Given the description of an element on the screen output the (x, y) to click on. 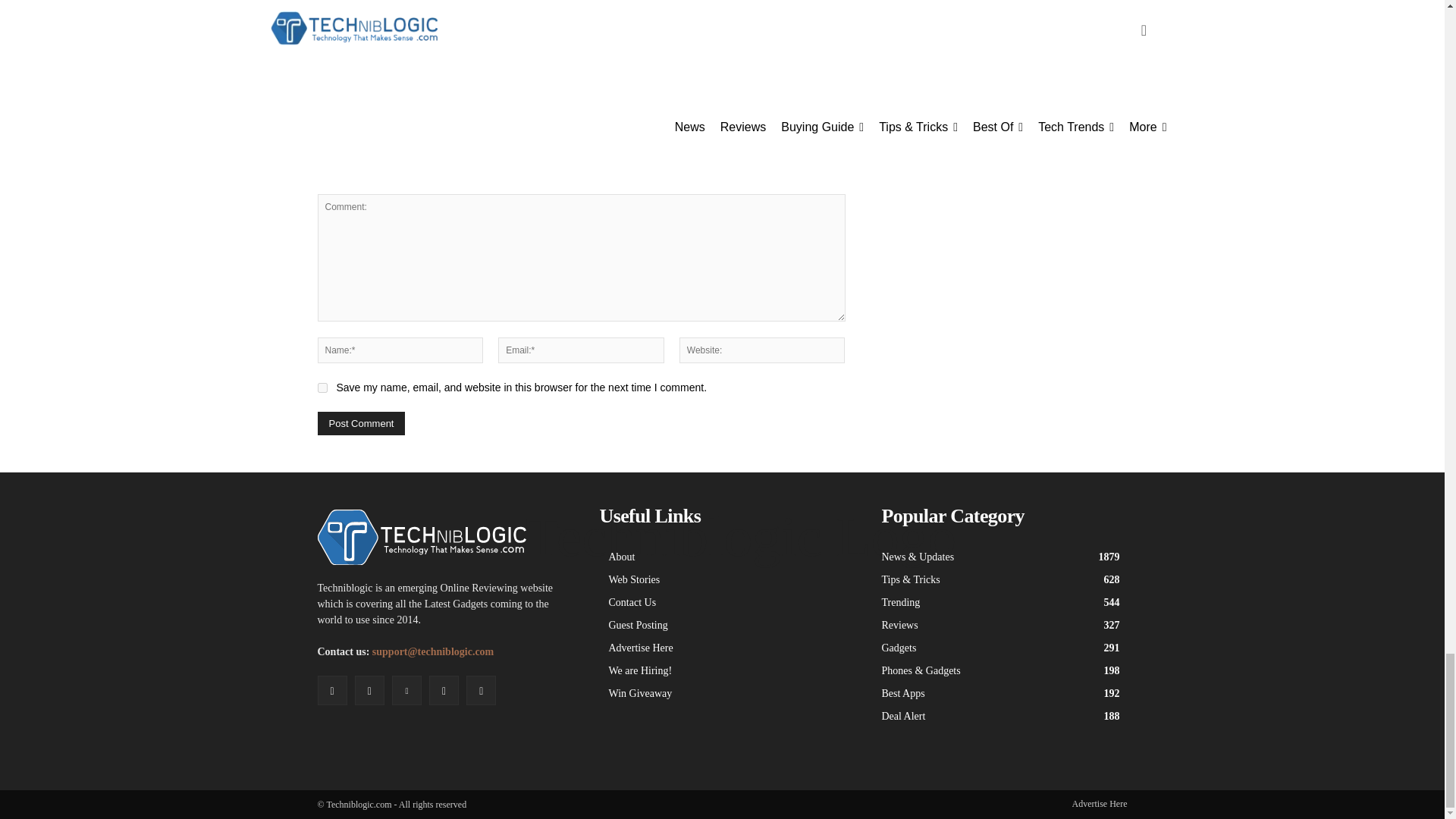
yes (321, 388)
Post Comment (360, 422)
